Given the description of an element on the screen output the (x, y) to click on. 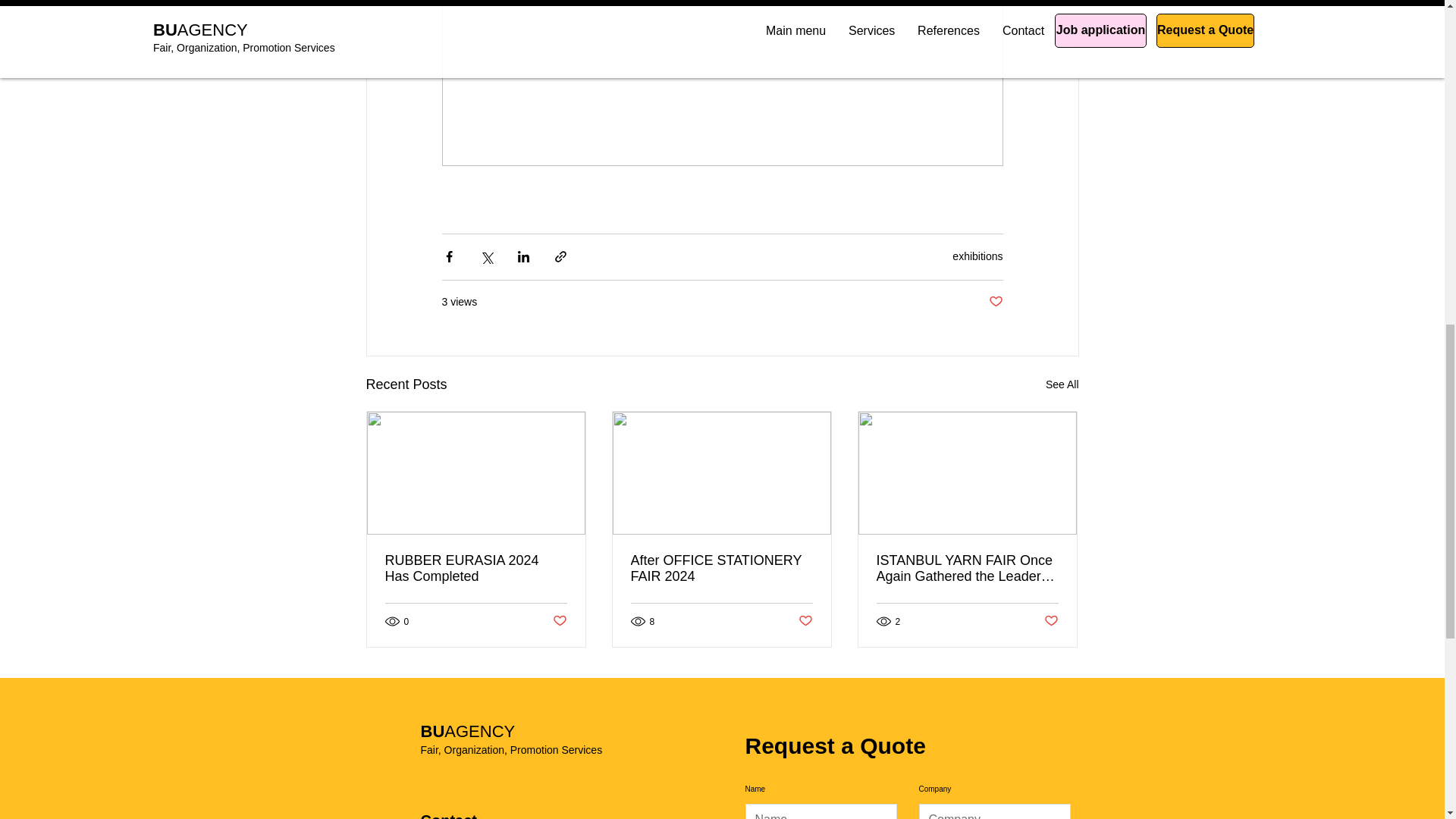
Post not marked as liked (558, 621)
Post not marked as liked (995, 302)
exhibitions (977, 256)
After OFFICE STATIONERY FAIR 2024 (721, 568)
Post not marked as liked (804, 621)
BUAGENCY (467, 731)
Post not marked as liked (1050, 621)
See All (1061, 384)
RUBBER EURASIA 2024 Has Completed (476, 568)
